Given the description of an element on the screen output the (x, y) to click on. 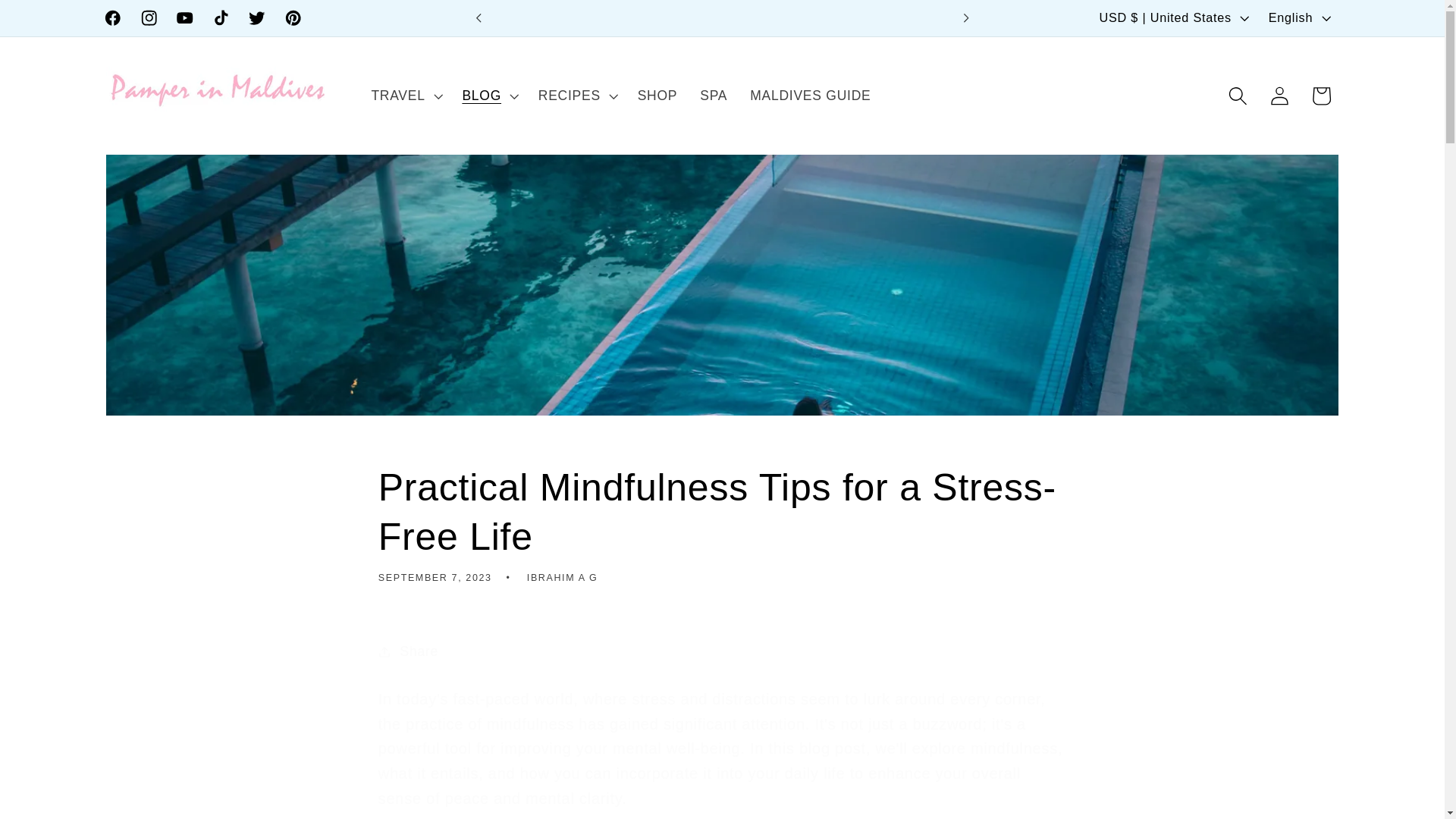
Facebook (112, 18)
YouTube (185, 18)
Pinterest (293, 18)
Skip to content (57, 21)
Twitter (256, 18)
TikTok (221, 18)
Instagram (149, 18)
Share (722, 651)
English (1297, 18)
